Given the description of an element on the screen output the (x, y) to click on. 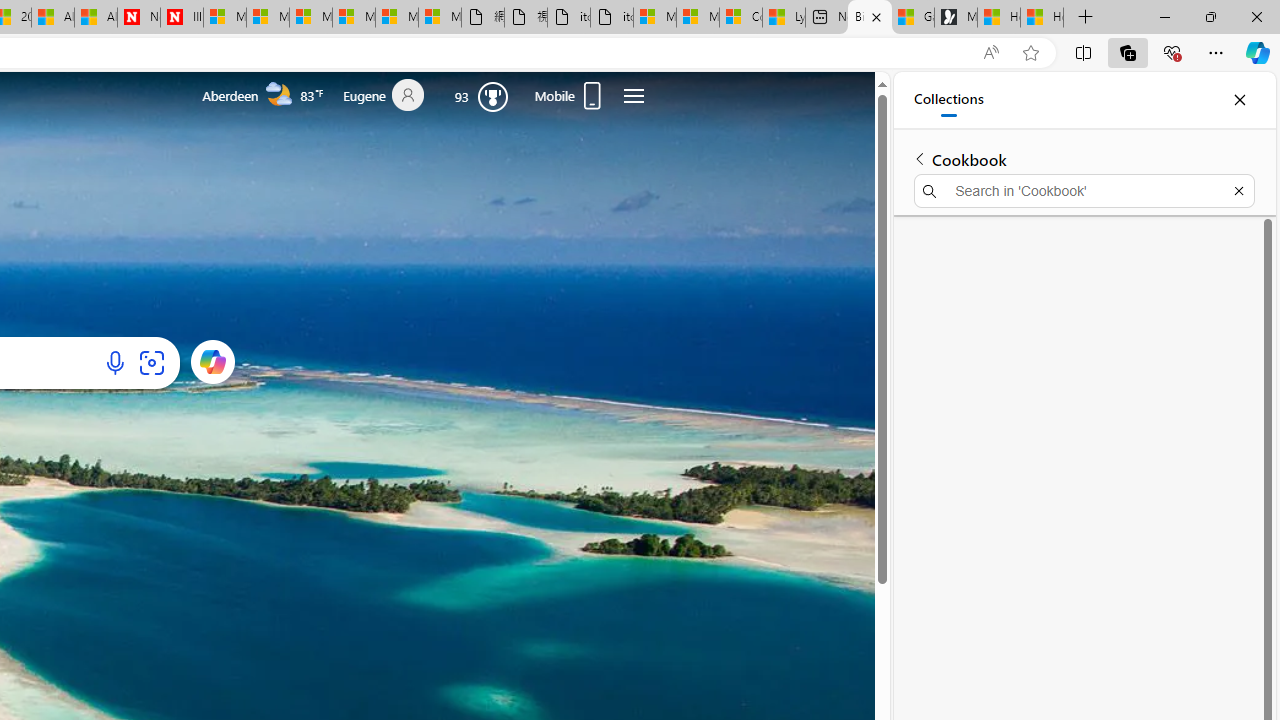
Search using an image (151, 362)
Consumer Health Data Privacy Policy (740, 17)
Back to list of collections (920, 158)
Illness news & latest pictures from Newsweek.com (182, 17)
Eugene (392, 95)
